Given the description of an element on the screen output the (x, y) to click on. 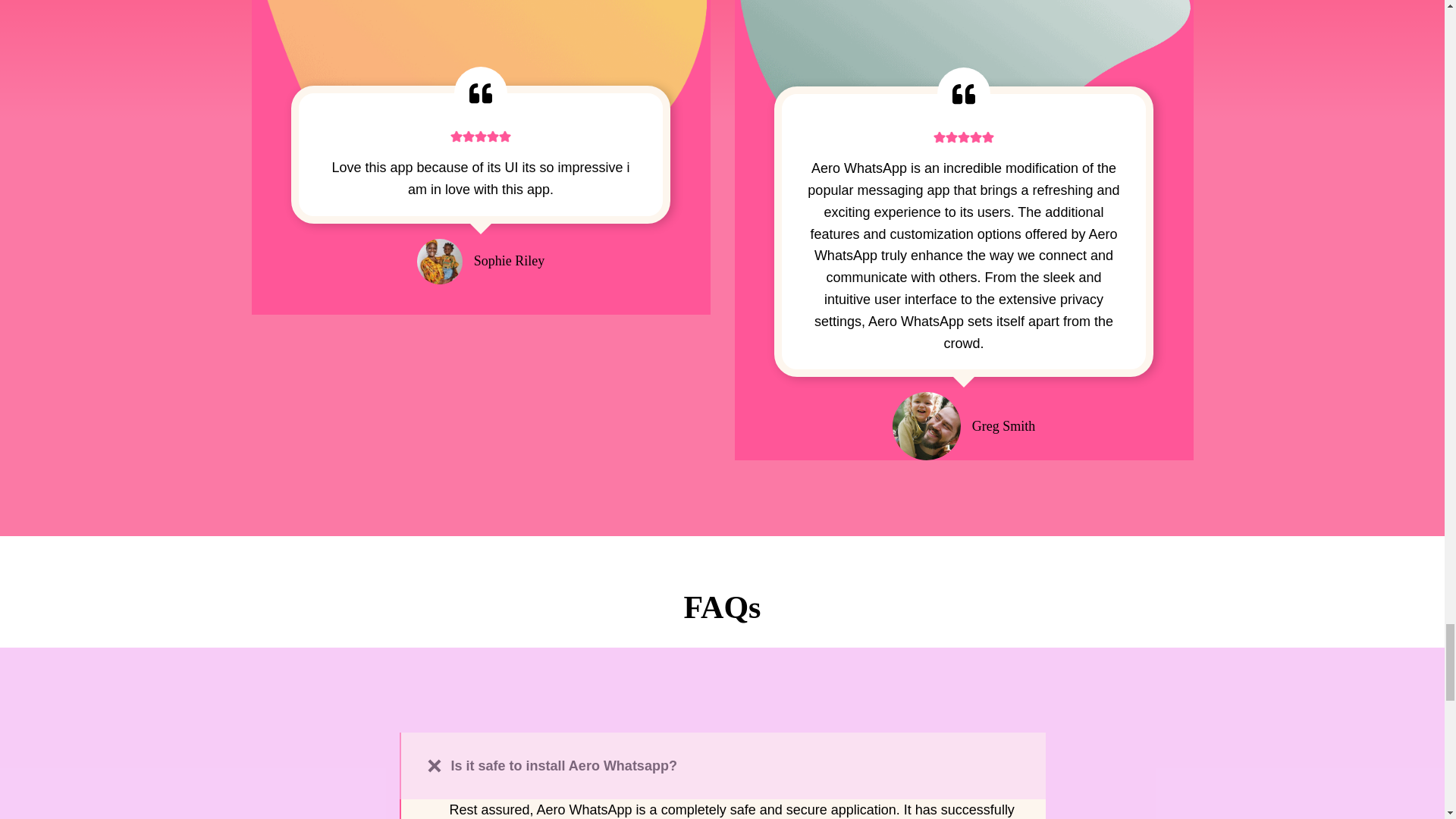
Is it safe to install Aero Whatsapp? (721, 765)
